Given the description of an element on the screen output the (x, y) to click on. 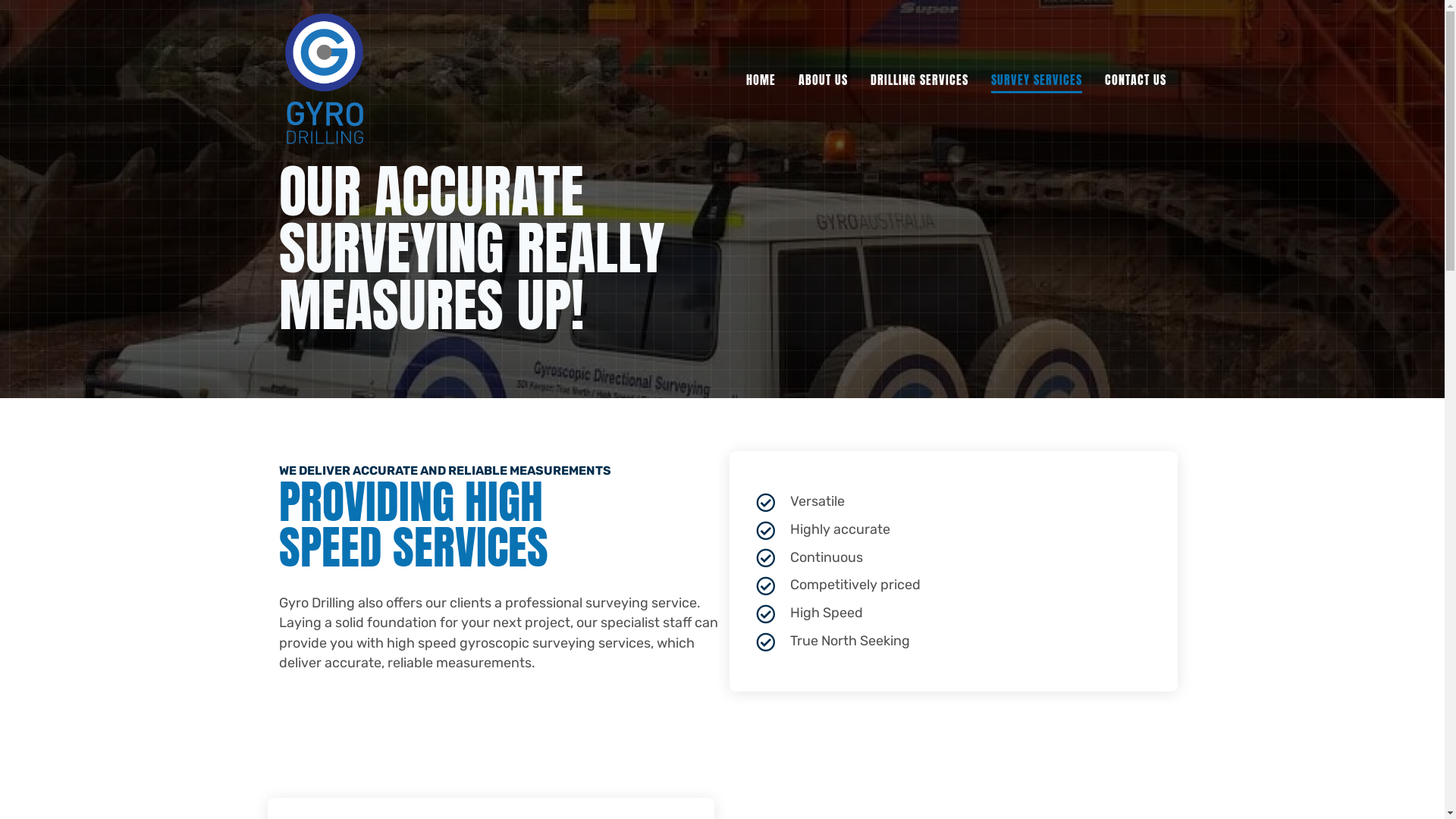
DRILLING SERVICES Element type: text (919, 79)
SURVEY SERVICES Element type: text (1035, 79)
ABOUT US Element type: text (822, 79)
CONTACT US Element type: text (1134, 79)
HOME Element type: text (760, 79)
Gyro-logo-V5 (1) Element type: hover (324, 79)
